Given the description of an element on the screen output the (x, y) to click on. 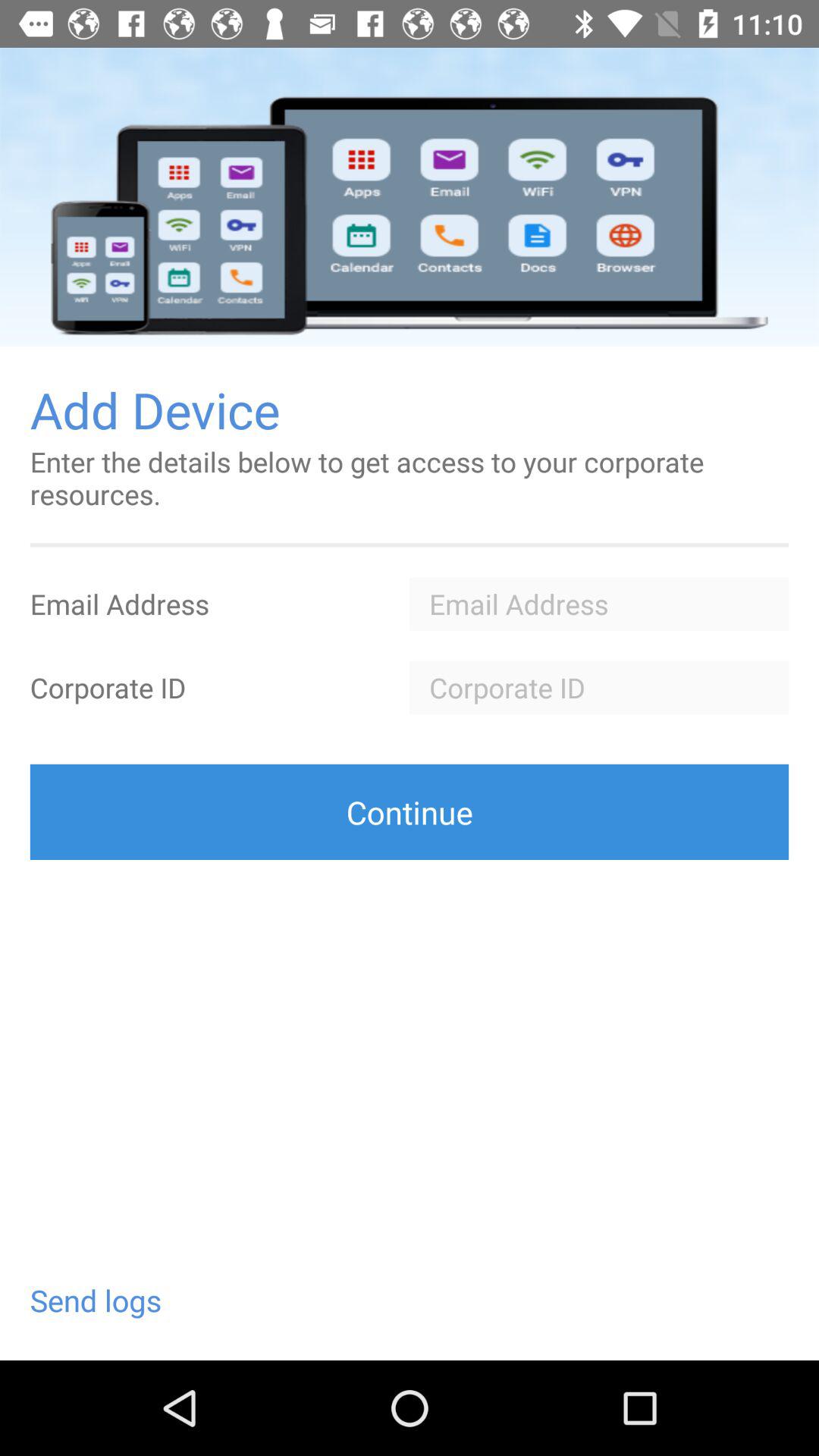
enter information (598, 687)
